Given the description of an element on the screen output the (x, y) to click on. 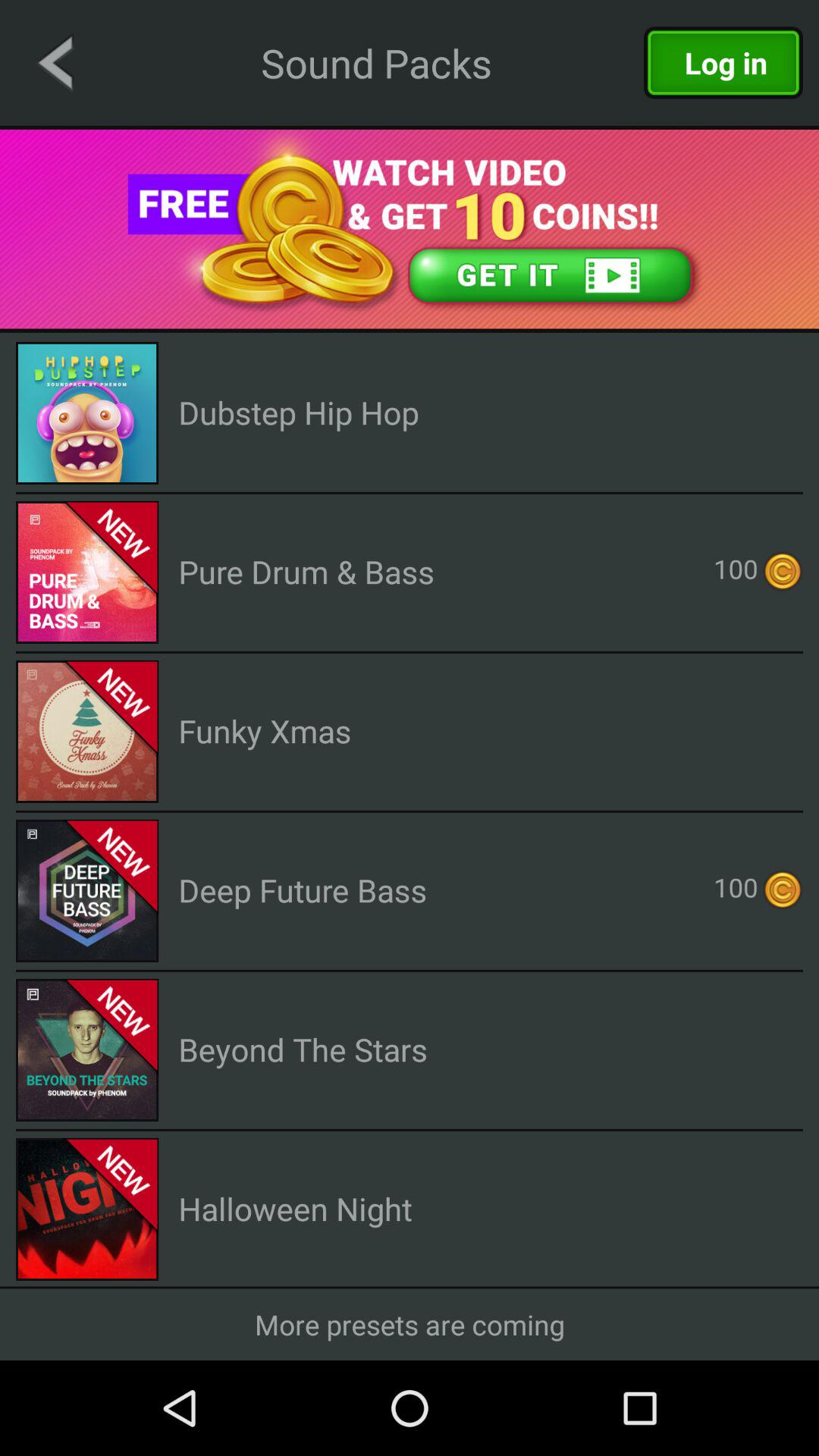
select deep future bass (302, 889)
